Given the description of an element on the screen output the (x, y) to click on. 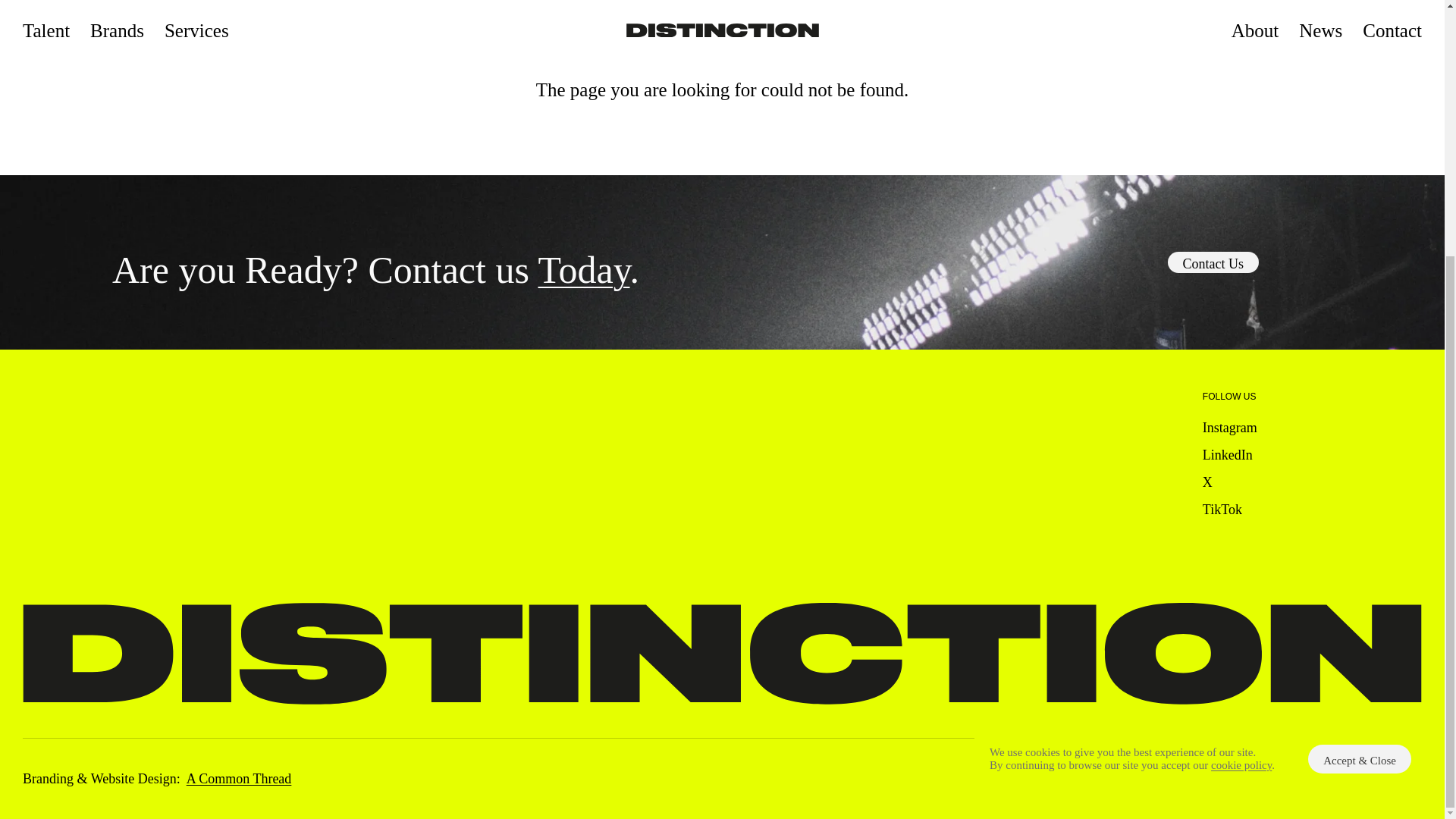
LinkedIn (1227, 454)
Privacy Policy (1134, 778)
Contact Us (1213, 261)
A Common Thread (239, 778)
cookie policy (1241, 401)
Instagram (1229, 427)
TikTok (1221, 509)
